Given the description of an element on the screen output the (x, y) to click on. 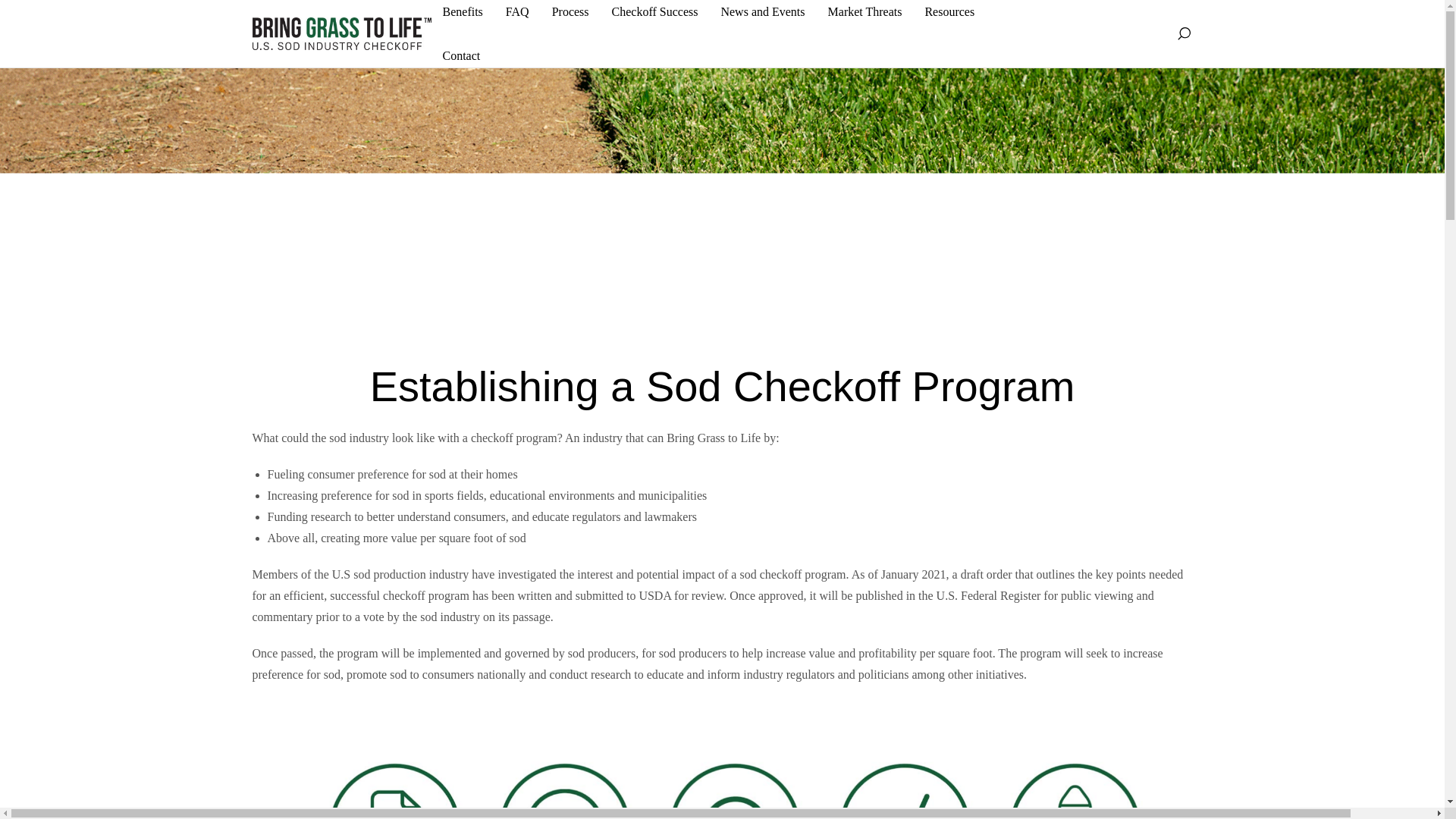
News and Events (762, 11)
Benefits (462, 11)
Resources (949, 11)
Contact (461, 55)
Checkoff Success (654, 11)
Market Threats (865, 11)
Process (570, 11)
